Given the description of an element on the screen output the (x, y) to click on. 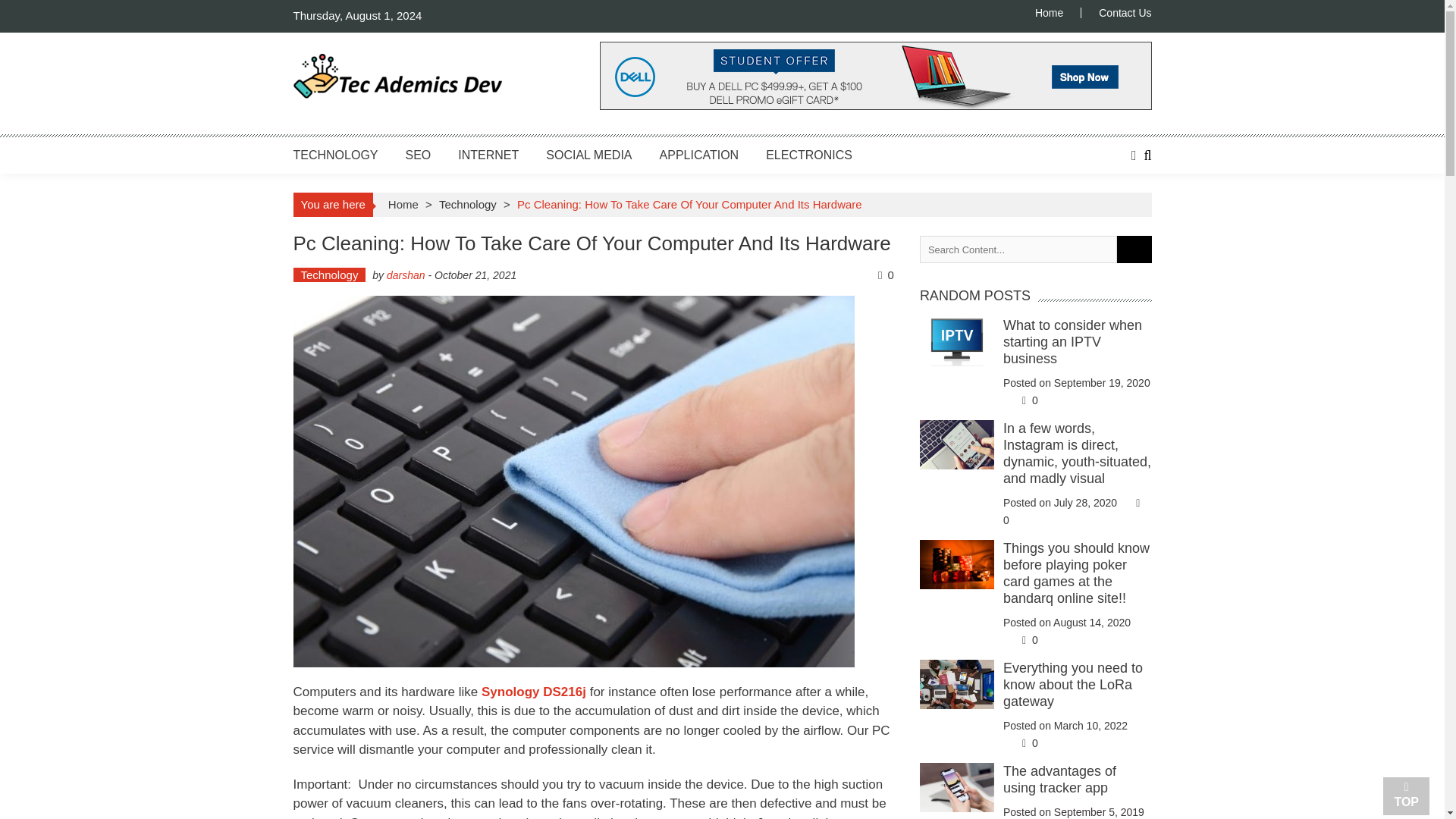
darshan (406, 275)
Contact Us (1115, 12)
Home (1057, 12)
September 19, 2020 (1102, 382)
Technology (328, 274)
SOCIAL MEDIA (588, 154)
APPLICATION (699, 154)
TECHNOLOGY (334, 154)
July 28, 2020 (1085, 502)
Search for: (1018, 248)
SEO (418, 154)
What to consider when starting an IPTV business (1072, 341)
Synology DS216j (533, 691)
